Given the description of an element on the screen output the (x, y) to click on. 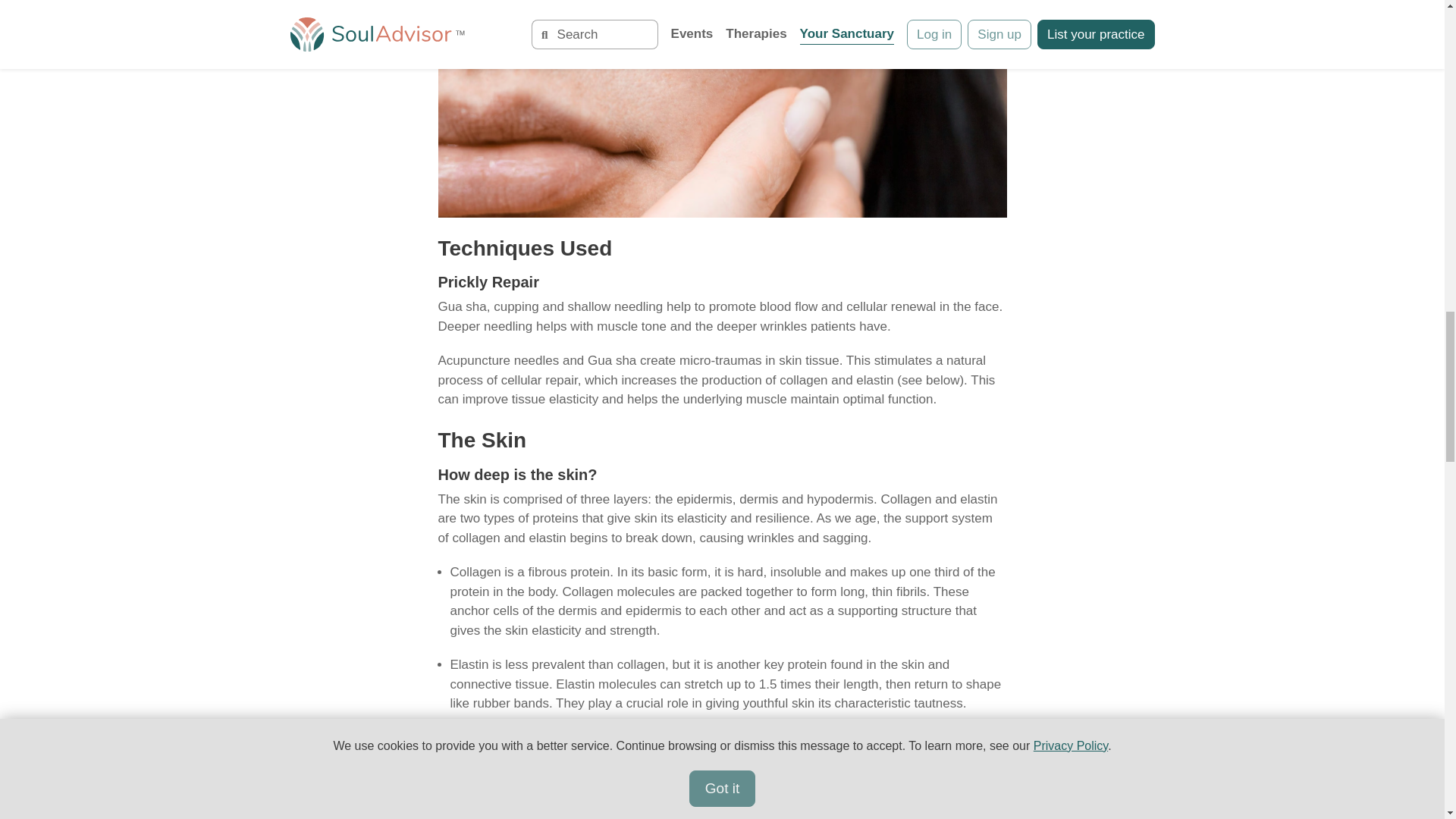
acupuncture (830, 814)
